Given the description of an element on the screen output the (x, y) to click on. 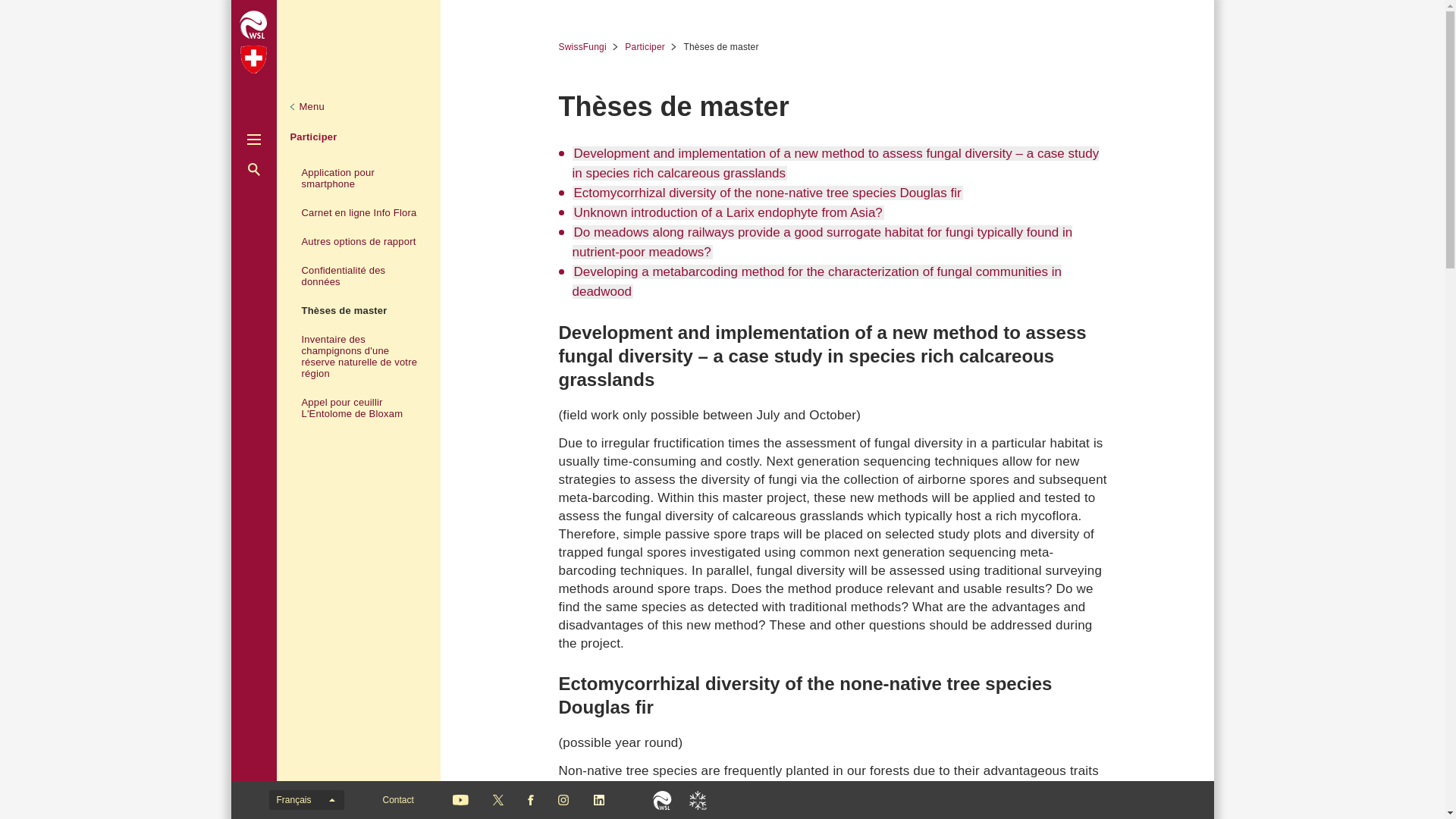
Application pour smartphone (360, 177)
Participer (312, 136)
Participer (650, 47)
Toggle (253, 139)
SwissFungi (587, 47)
Recherche (253, 169)
bafu (253, 59)
Autres options de rapport (360, 241)
Menu (309, 106)
Unknown introduction of a Larix endophyte from Asia? (727, 212)
Carnet en ligne Info Flora (360, 212)
Menu (309, 106)
Appel pour ceuillir L'Entolome de Bloxam (360, 407)
